Given the description of an element on the screen output the (x, y) to click on. 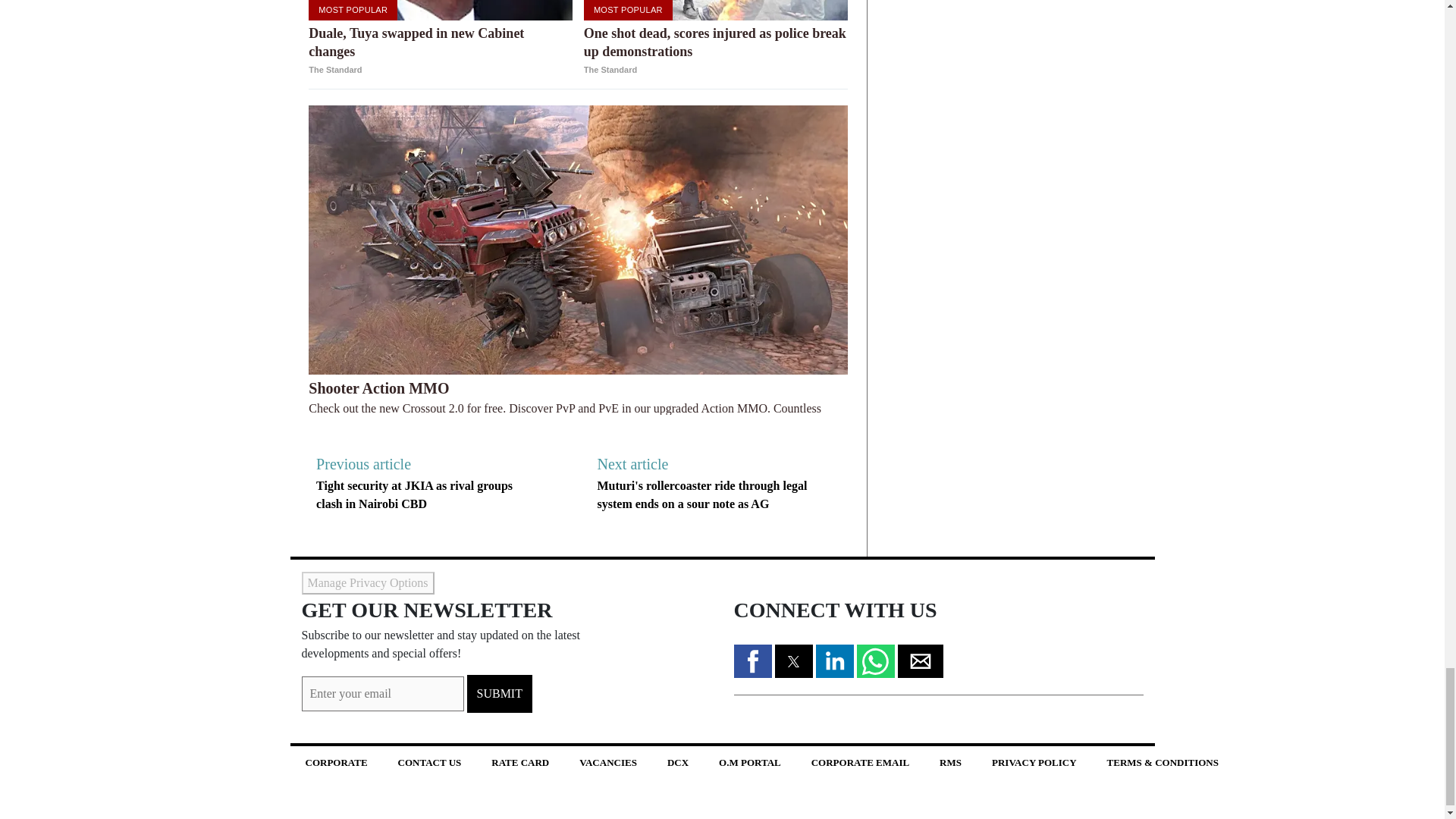
Manage Privacy Options (367, 582)
SUBMIT (499, 693)
CONTACT US (429, 762)
RATE CARD (520, 762)
Tight security at JKIA as rival groups clash in Nairobi CBD (413, 494)
PRIVACY POLICY (1034, 762)
CORPORATE (335, 762)
DCX (677, 762)
O.M PORTAL (749, 762)
CORPORATE EMAIL (860, 762)
VACANCIES (608, 762)
RMS (950, 762)
